Given the description of an element on the screen output the (x, y) to click on. 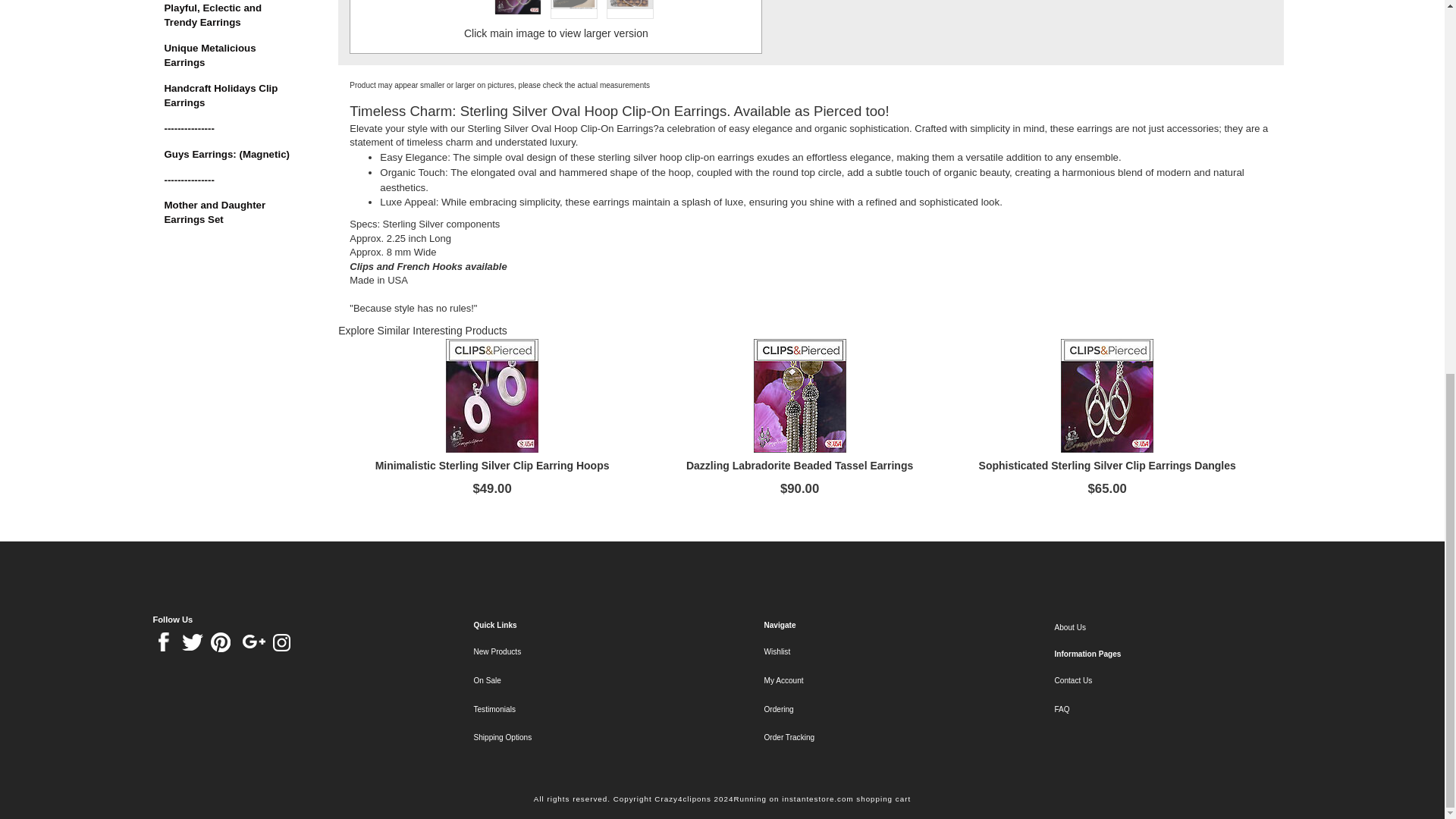
--------------- (227, 129)
Handcraft Holidays Clip Earrings (227, 95)
Unique Metalicious Earrings (227, 55)
--------------- (227, 179)
Mother and Daughter Earrings Set (227, 213)
Playful, Eclectic and Trendy Earrings (227, 15)
